Given the description of an element on the screen output the (x, y) to click on. 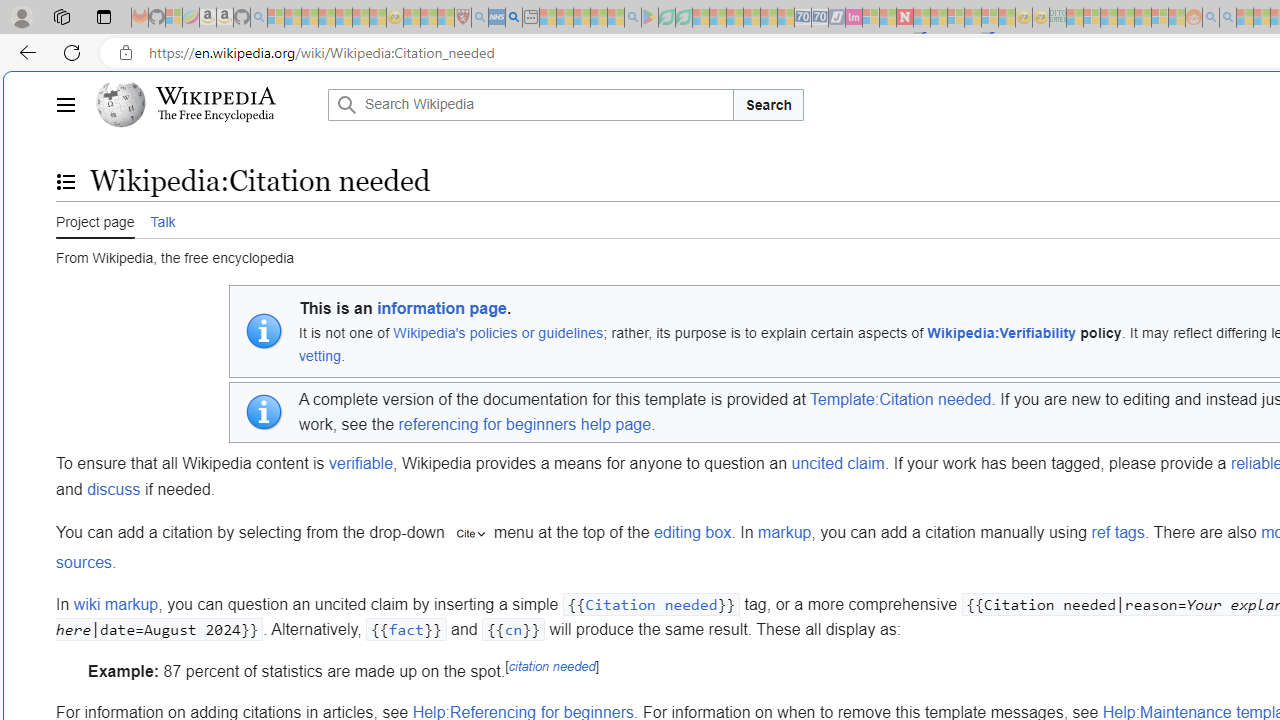
Wikipedia The Free Encyclopedia (206, 104)
Wikipedia:Verifiability (1001, 332)
